Given the description of an element on the screen output the (x, y) to click on. 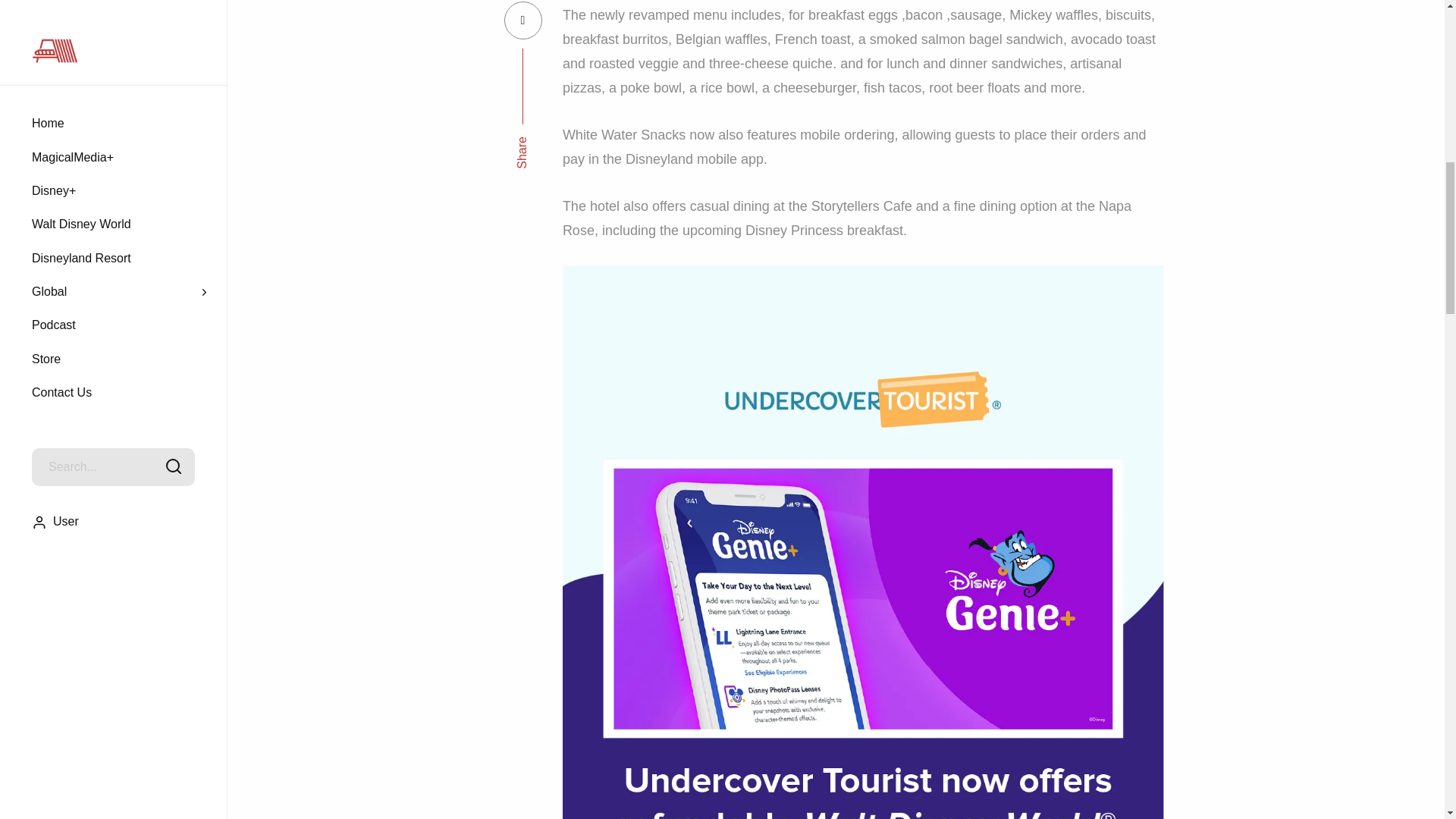
Send this post via email (522, 20)
